Given the description of an element on the screen output the (x, y) to click on. 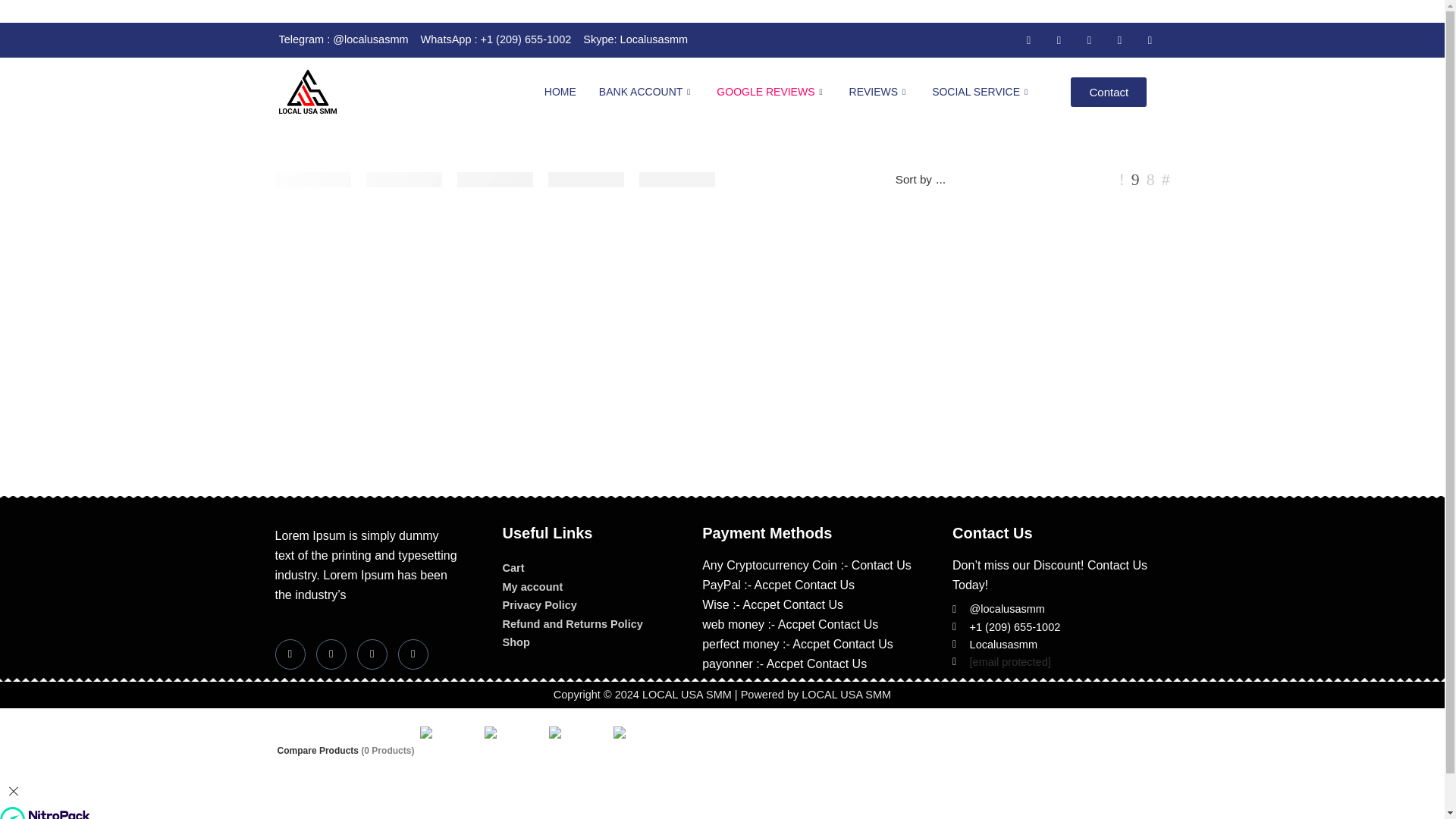
HOME (560, 91)
SOCIAL SERVICE (981, 91)
GOOGLE REVIEWS (770, 91)
REVIEWS (879, 91)
Contact (1108, 91)
BANK ACCOUNT (647, 91)
